Given the description of an element on the screen output the (x, y) to click on. 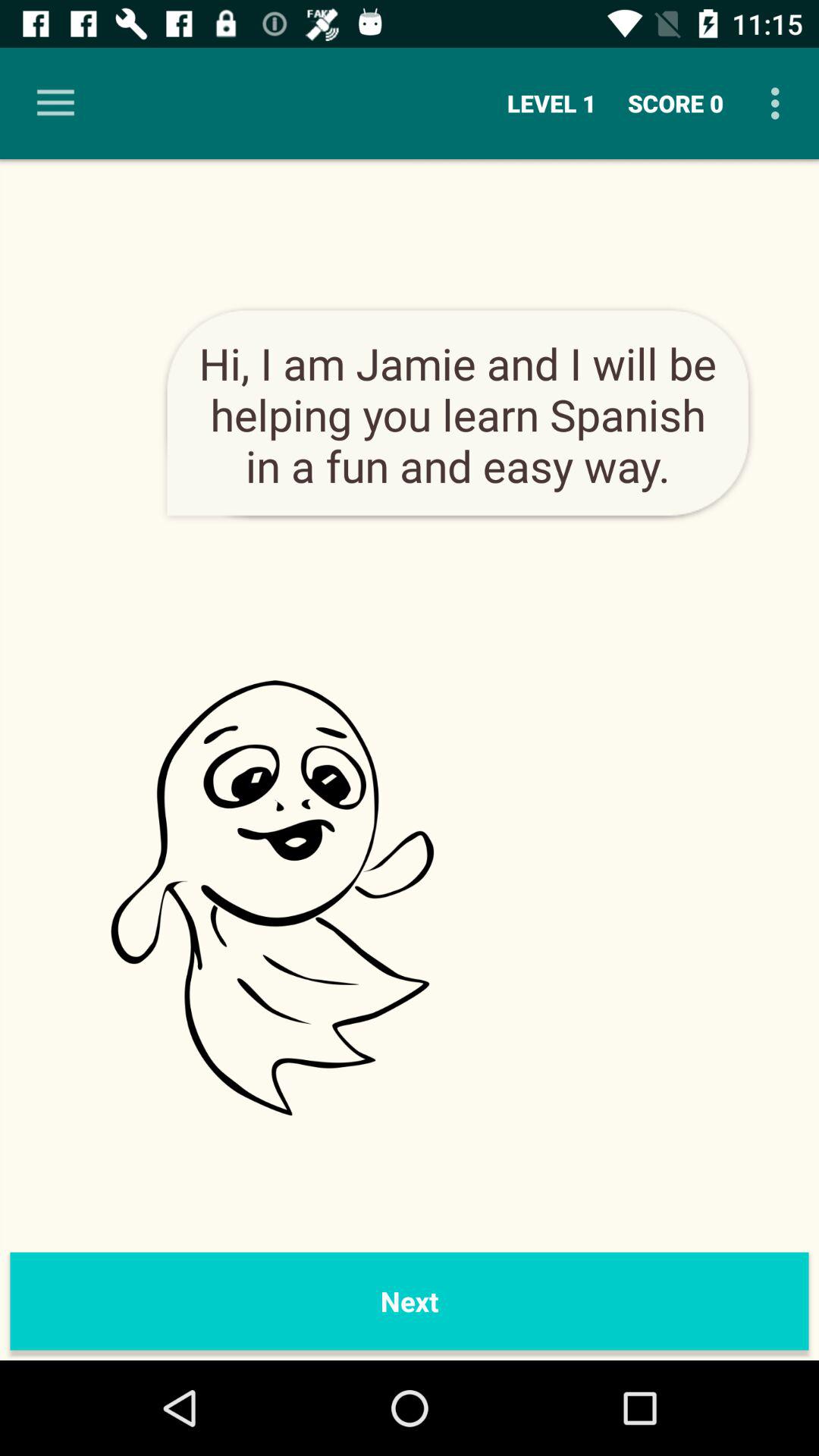
select the next (409, 1301)
